Given the description of an element on the screen output the (x, y) to click on. 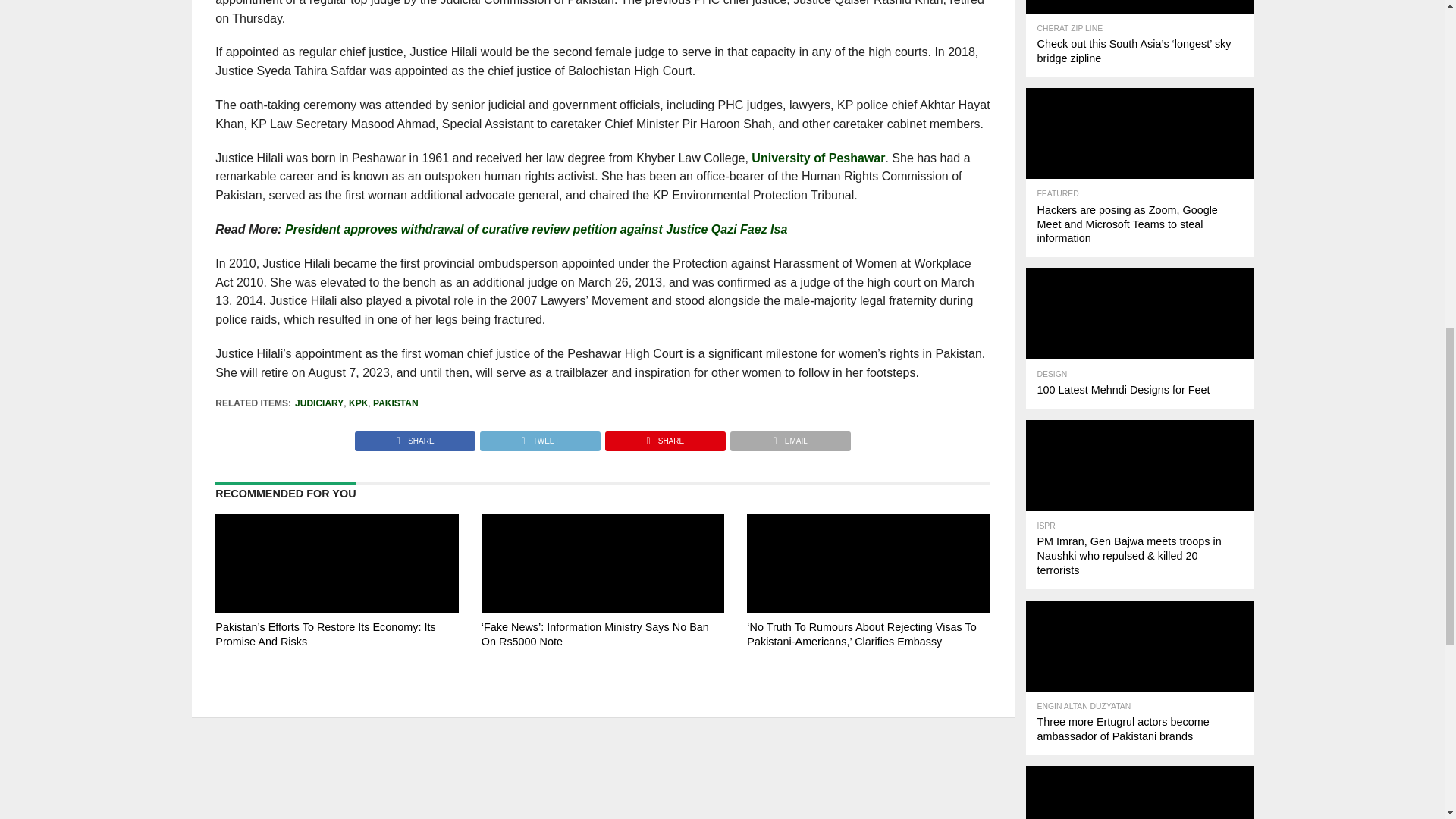
Share on Facebook (415, 436)
Tweet This Post (539, 436)
Pin This Post (664, 436)
